Given the description of an element on the screen output the (x, y) to click on. 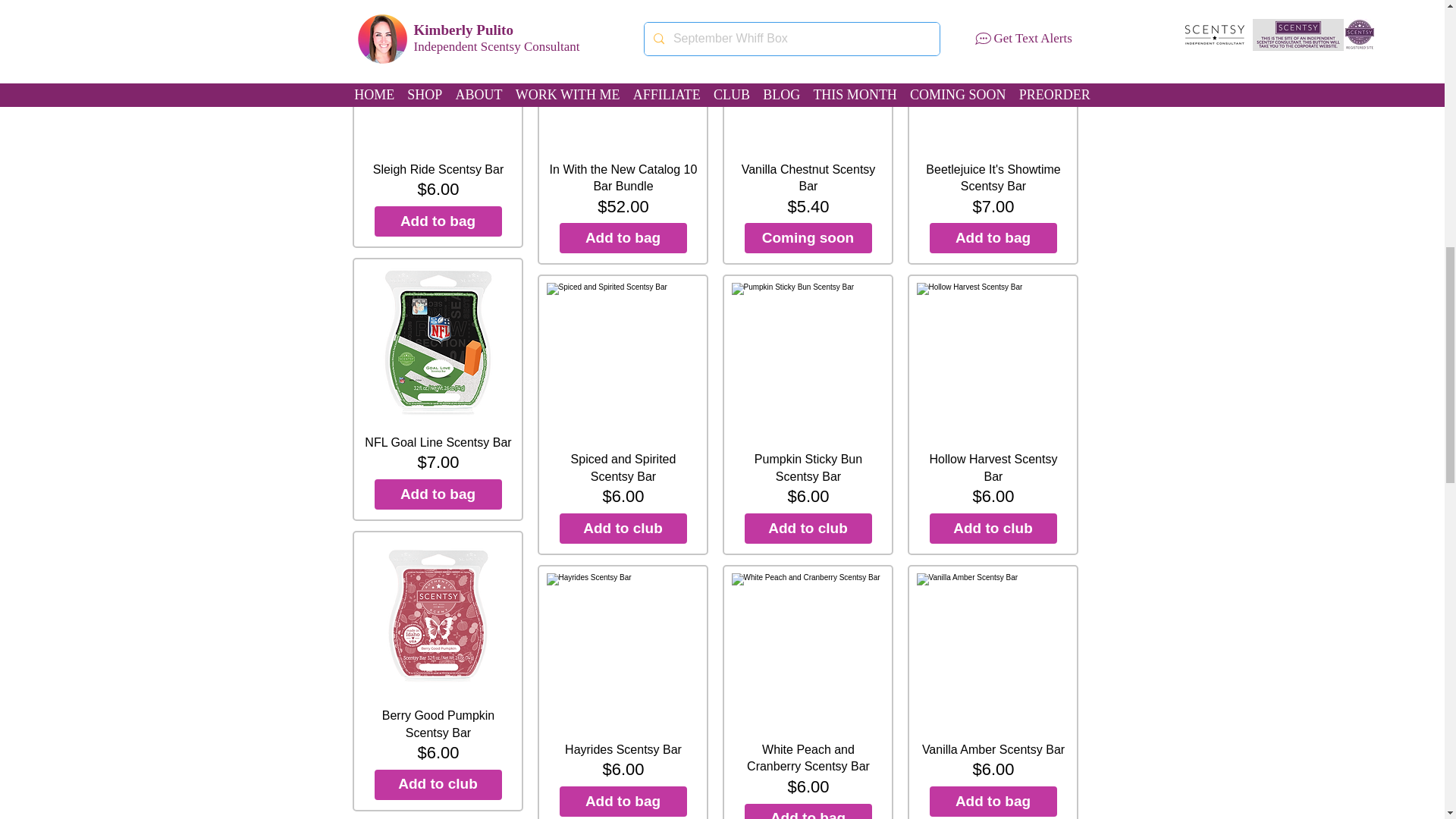
Hollow Harvest Scentsy Bar (992, 359)
Add to club (808, 528)
Spiced and Spirited Scentsy Bar (623, 359)
Add to club (993, 528)
Add to bag (623, 237)
Beetlejuice It's Showtime Scentsy Bar (992, 73)
Sleigh Ride Scentsy Bar (438, 73)
Add to bag (438, 221)
Add to bag (993, 801)
Coming soon (808, 237)
